Given the description of an element on the screen output the (x, y) to click on. 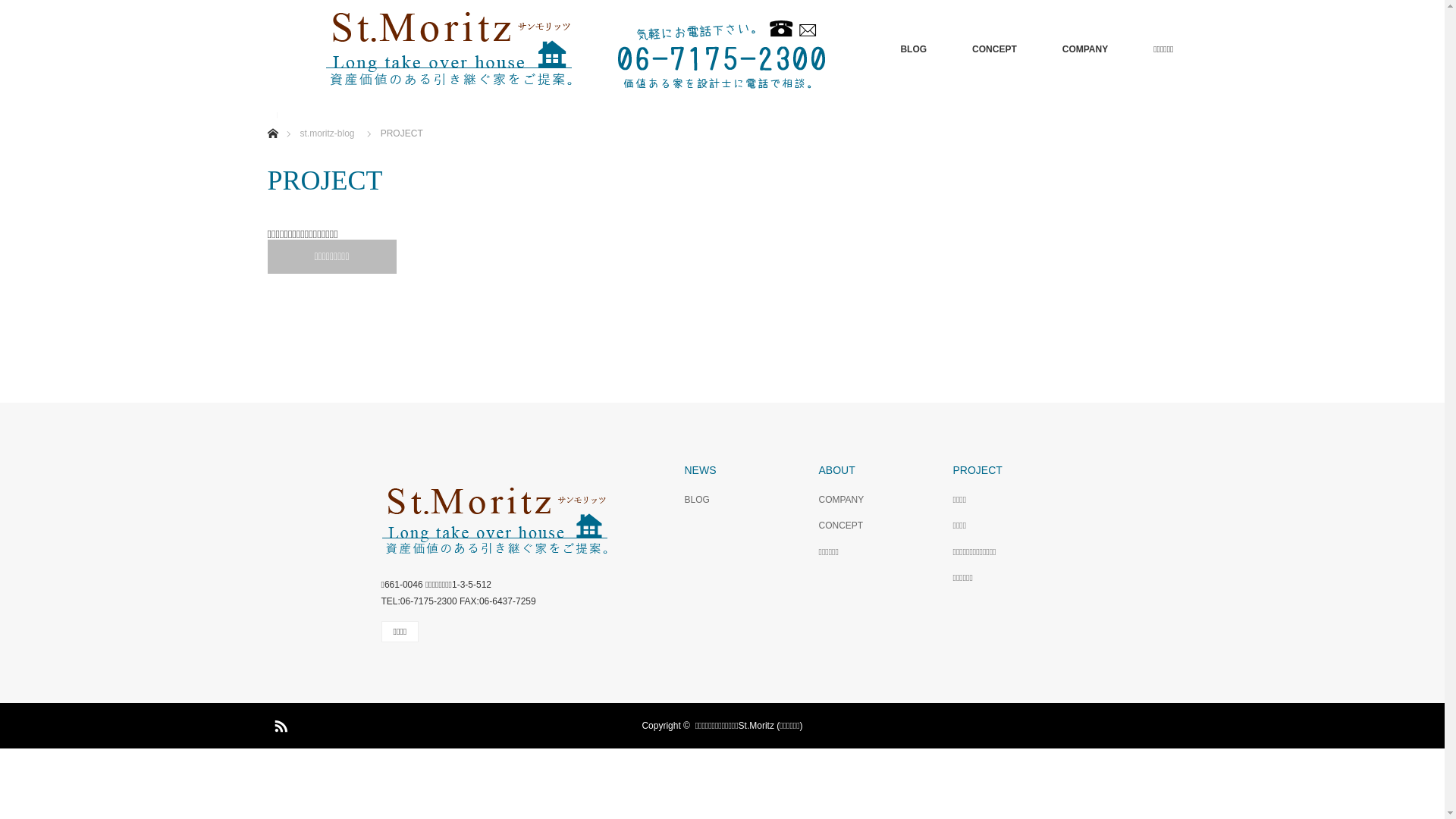
COMPANY Element type: text (873, 499)
BLOG Element type: text (738, 499)
ABOUT Element type: text (873, 470)
st.moritz-blog Element type: text (327, 133)
CONCEPT Element type: text (873, 525)
CONCEPT Element type: text (994, 49)
PROJECT Element type: text (1006, 470)
NEWS Element type: text (738, 470)
RSS Element type: text (277, 723)
COMPANY Element type: text (1084, 49)
BLOG Element type: text (913, 49)
